Given the description of an element on the screen output the (x, y) to click on. 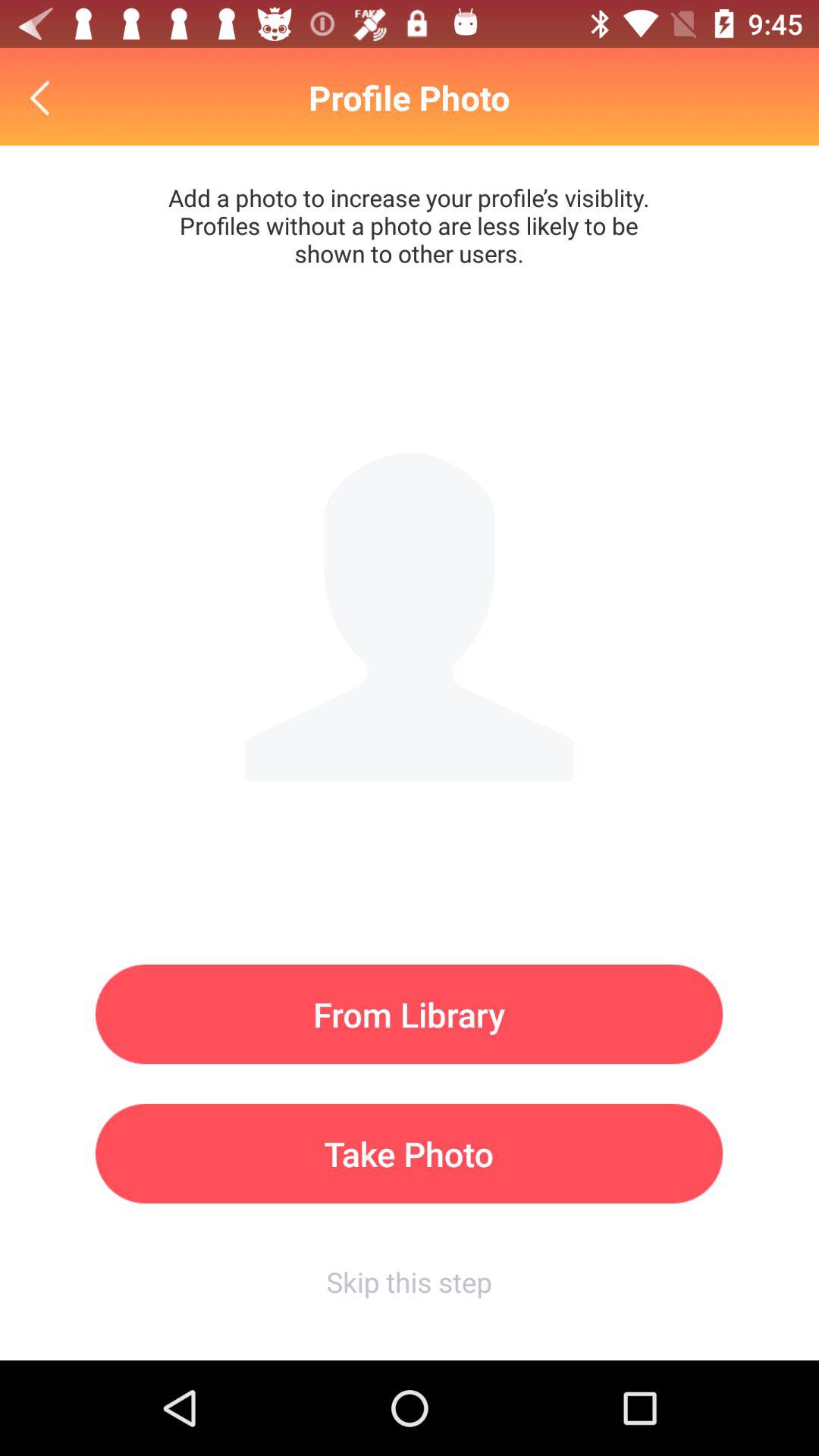
scroll to the take photo icon (408, 1153)
